Given the description of an element on the screen output the (x, y) to click on. 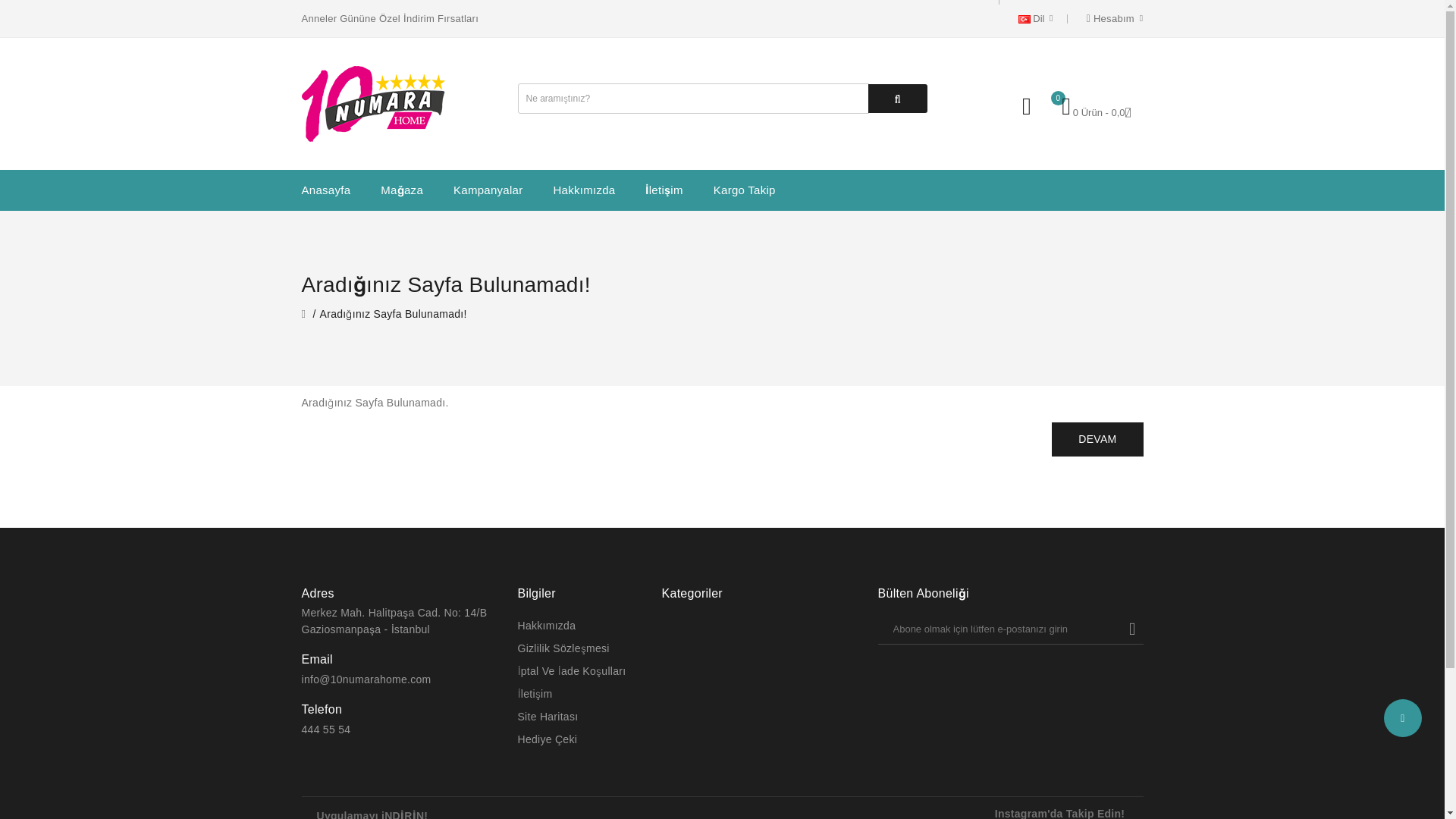
Kargo Takip Element type: text (744, 189)
Abone Ol Element type: text (1132, 629)
DEVAM Element type: text (1096, 439)
Kampanyalar Element type: text (487, 189)
Dil  Element type: text (1035, 18)
Anasayfa Element type: text (326, 189)
0 Element type: text (1028, 105)
